Given the description of an element on the screen output the (x, y) to click on. 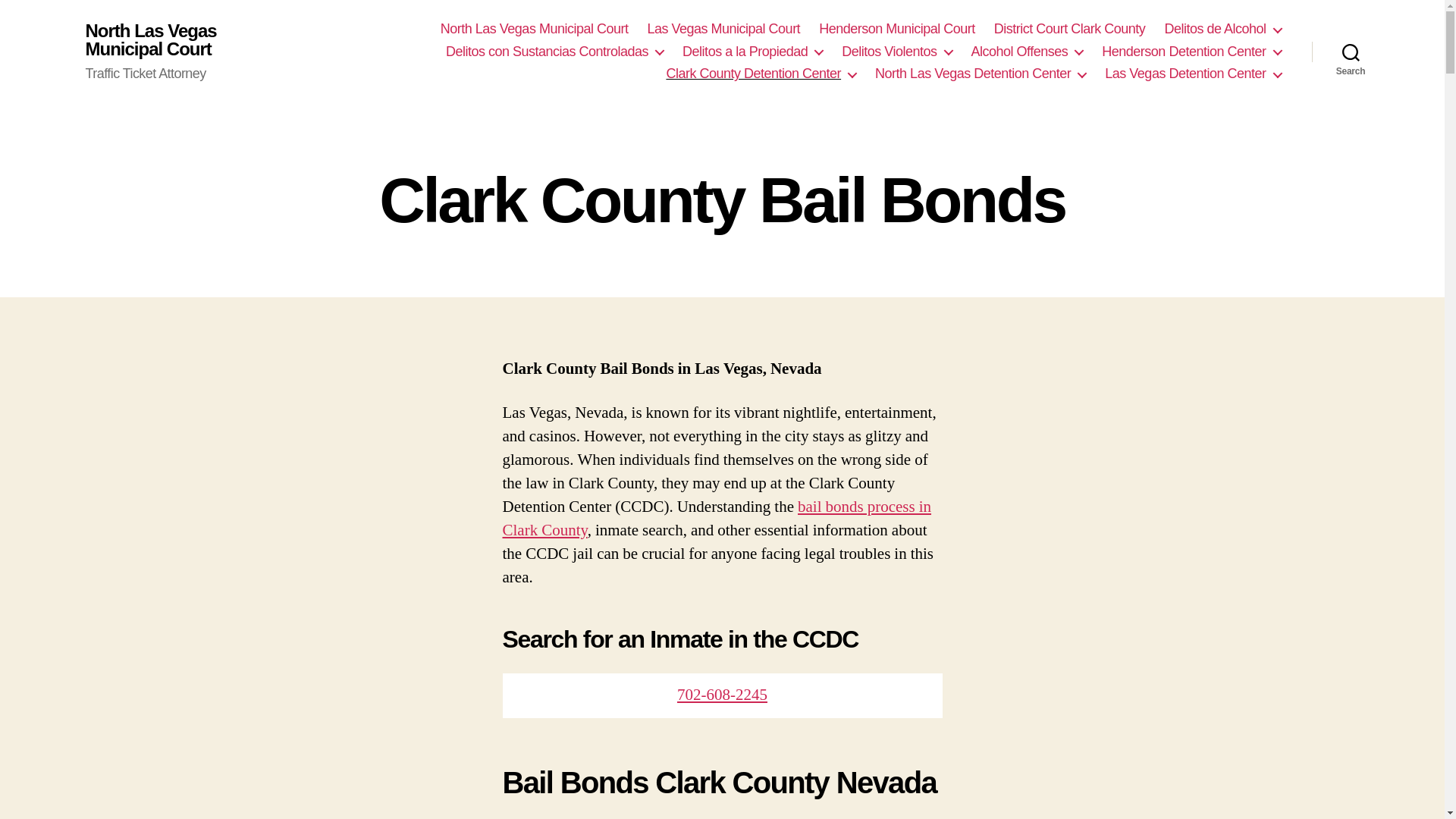
Delitos Violentos (896, 52)
Alcohol Offenses (1027, 52)
Delitos con Sustancias Controladas (554, 52)
Las Vegas Municipal Court (722, 29)
Henderson Municipal Court (896, 29)
North Las Vegas Municipal Court (534, 29)
North Las Vegas Municipal Court (173, 40)
District Court Clark County (1069, 29)
Delitos a la Propiedad (752, 52)
Delitos de Alcohol (1222, 29)
